Given the description of an element on the screen output the (x, y) to click on. 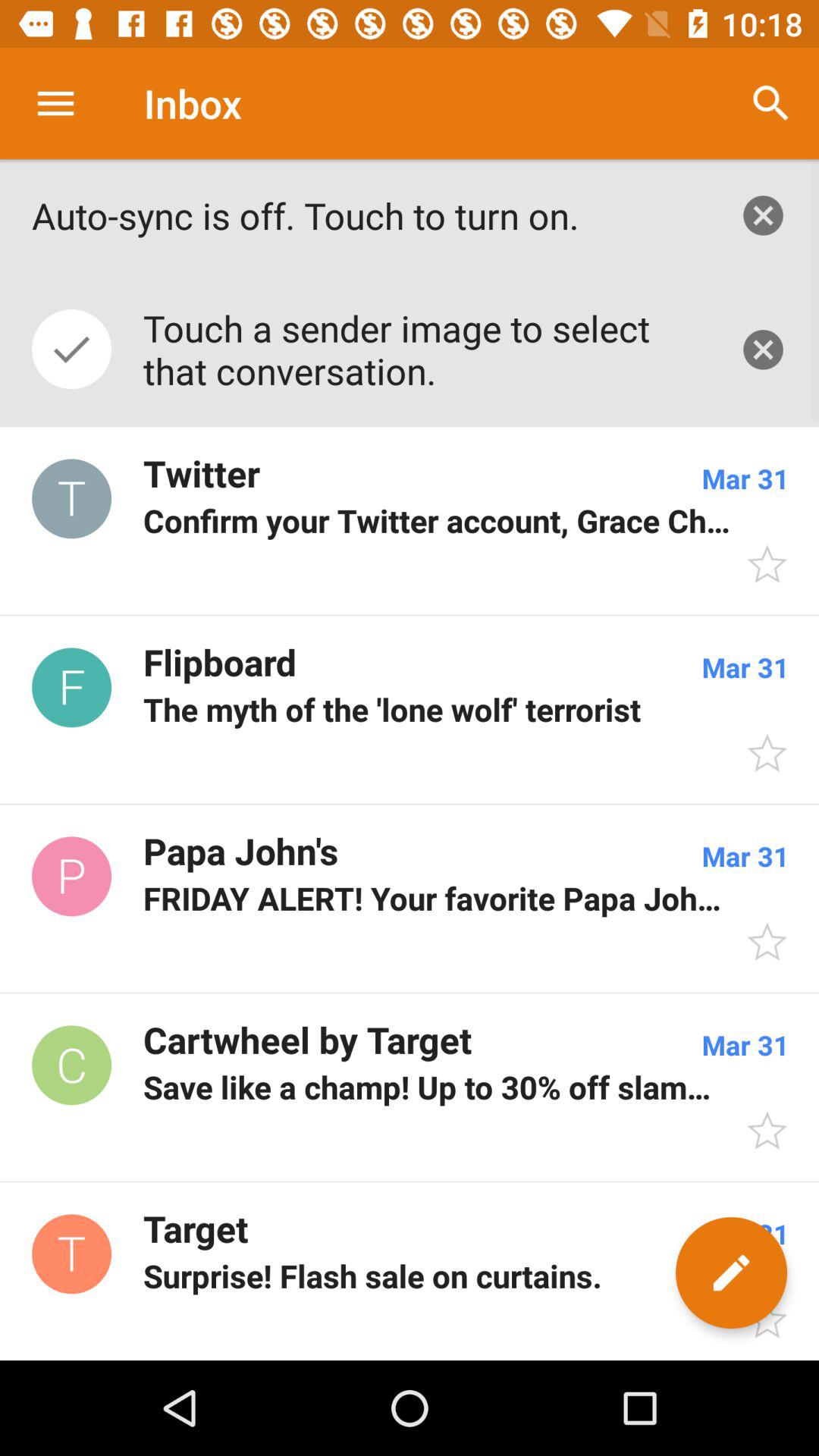
turn on the auto sync is item (369, 215)
